Given the description of an element on the screen output the (x, y) to click on. 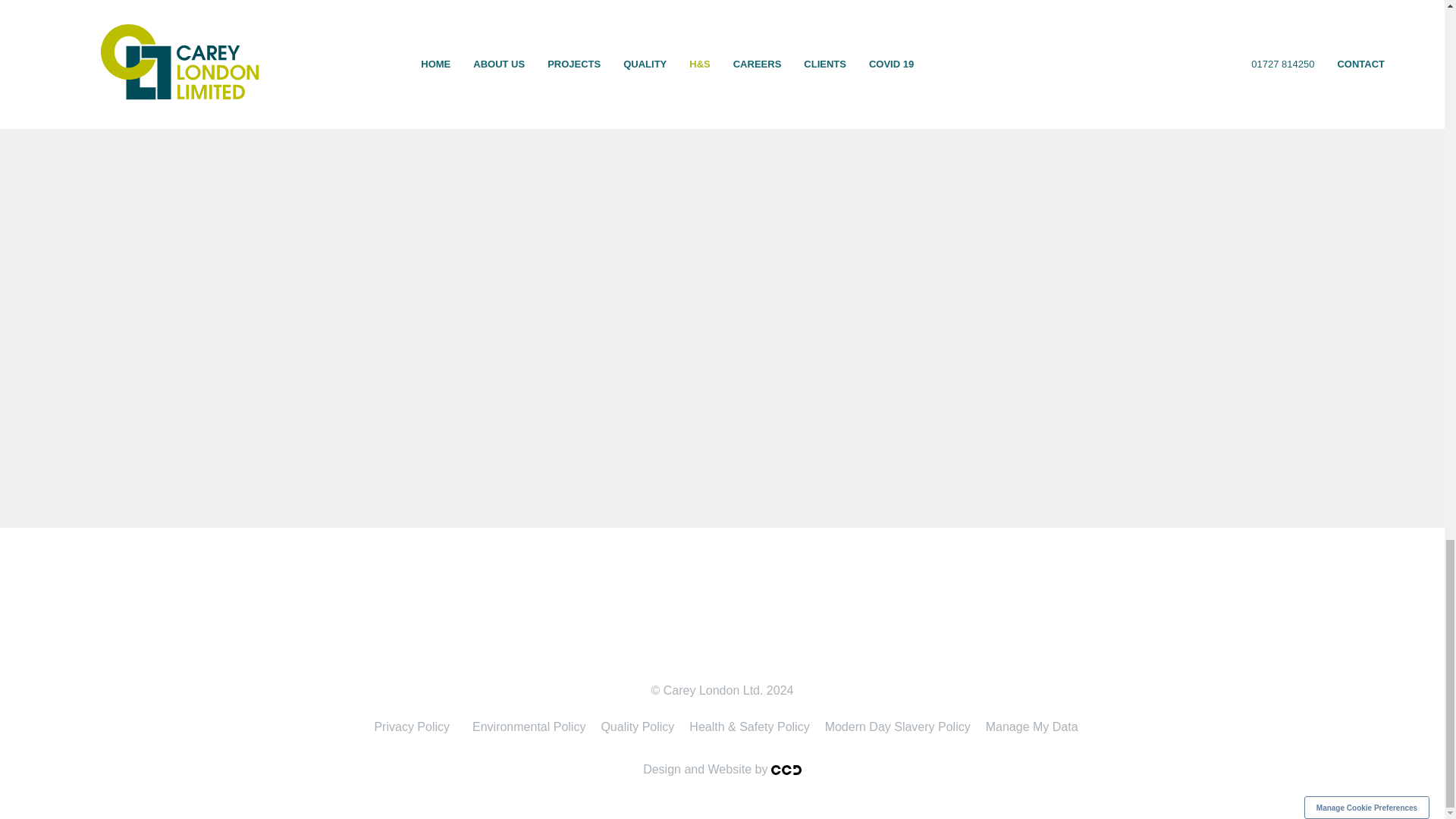
Privacy Policy (411, 727)
Environmental Policy (528, 727)
Manage My Data (1032, 727)
Modern Day Slavery Policy (897, 727)
Quality Policy (636, 727)
Quality Policy (636, 727)
Environmental Policy (528, 727)
Manage My Data (1032, 727)
Modern Day Slavery Policy (897, 727)
Privacy Policy (411, 727)
